Given the description of an element on the screen output the (x, y) to click on. 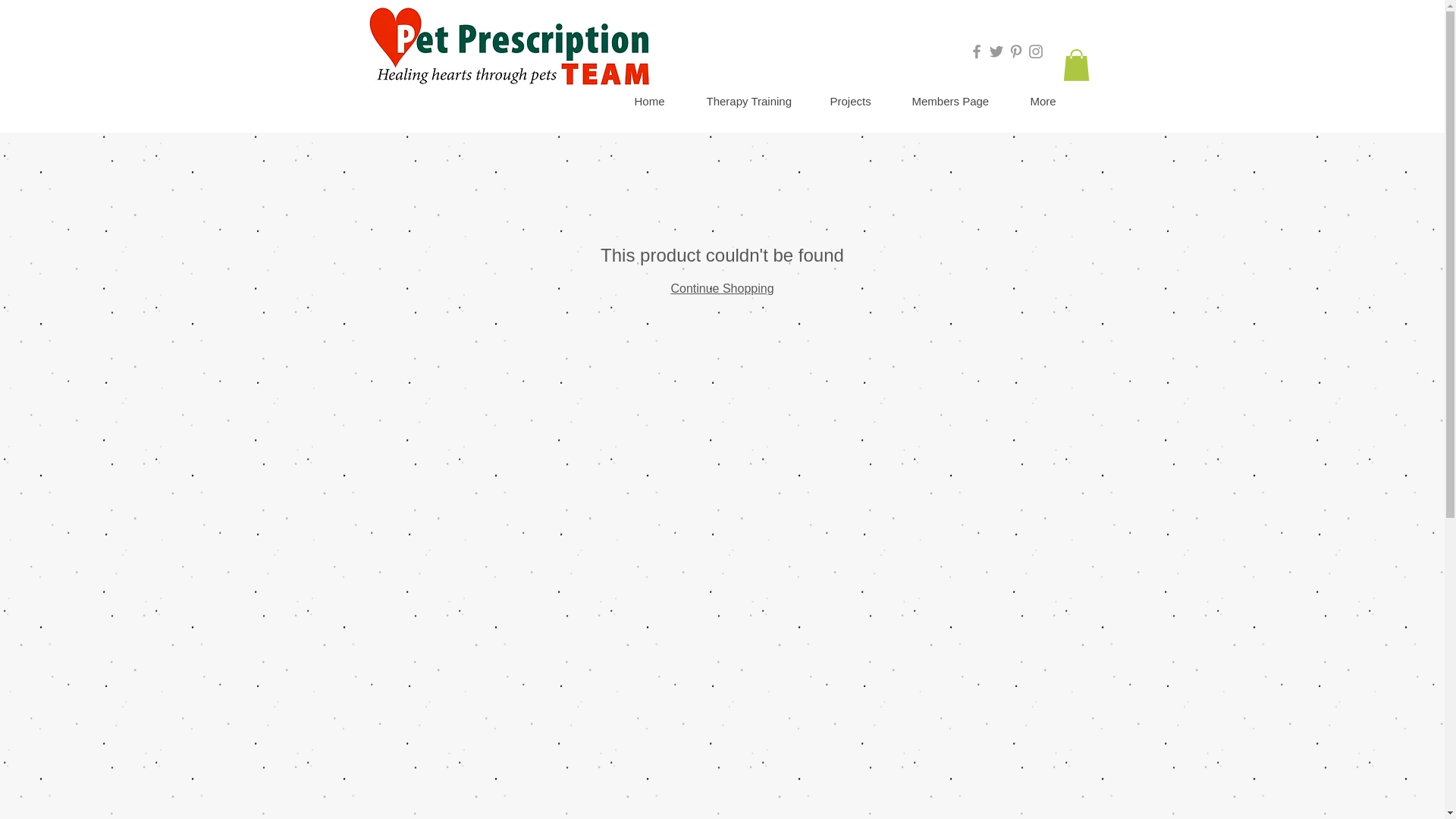
Members Page (958, 101)
Therapy Training (756, 101)
Projects (857, 101)
Home (658, 101)
Continue Shopping (721, 287)
